Given the description of an element on the screen output the (x, y) to click on. 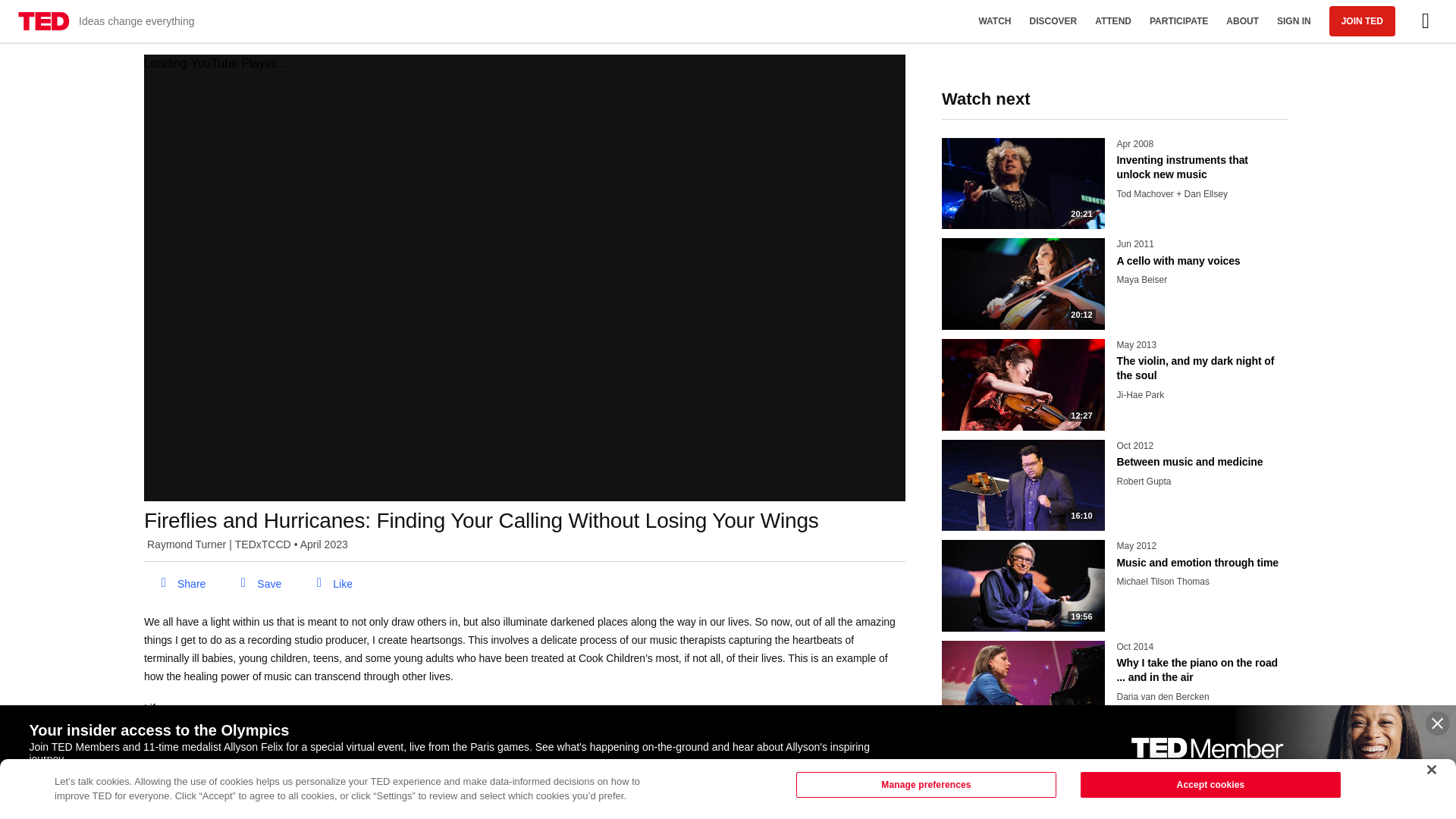
Share (1115, 480)
SIGN IN (180, 584)
ATTEND (1294, 21)
Watch next (1113, 21)
Ideas change everything (1115, 109)
Like (106, 21)
DISCOVER (254, 584)
PARTICIPATE (332, 584)
Watch next (1053, 21)
Save (1178, 21)
